Given the description of an element on the screen output the (x, y) to click on. 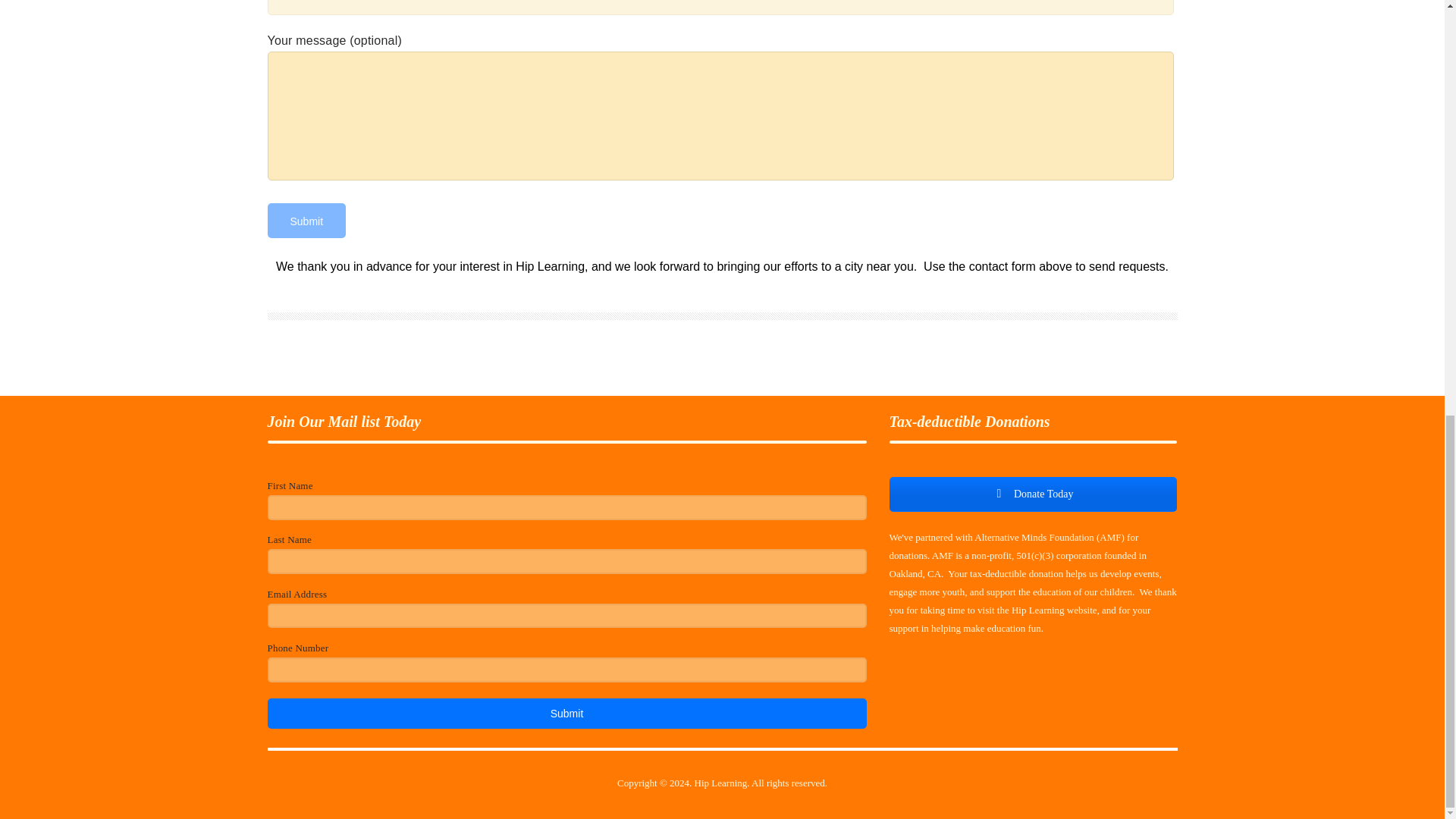
Submit (306, 220)
Submit (306, 220)
Submit (566, 713)
Donate Today (1032, 493)
International Phone Number (566, 669)
